Given the description of an element on the screen output the (x, y) to click on. 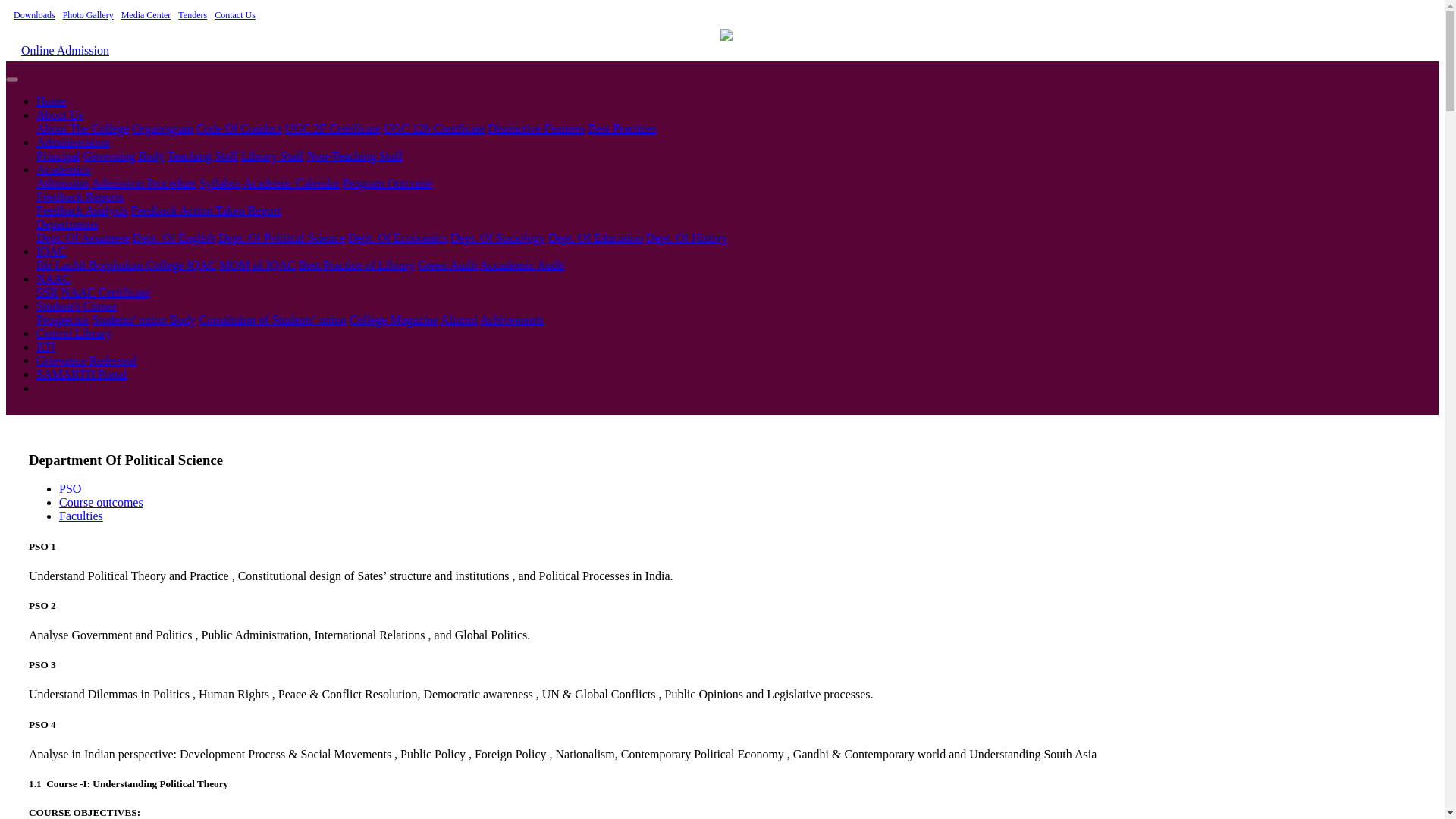
Departments (67, 223)
Best Practices (622, 128)
Admission Procedure (142, 182)
Dept. Of Economics (396, 237)
Governing Body (123, 155)
Academics (63, 169)
Dept. Of Political Science (281, 237)
IQAC (50, 250)
Media Center (145, 14)
Central Library (74, 332)
